Given the description of an element on the screen output the (x, y) to click on. 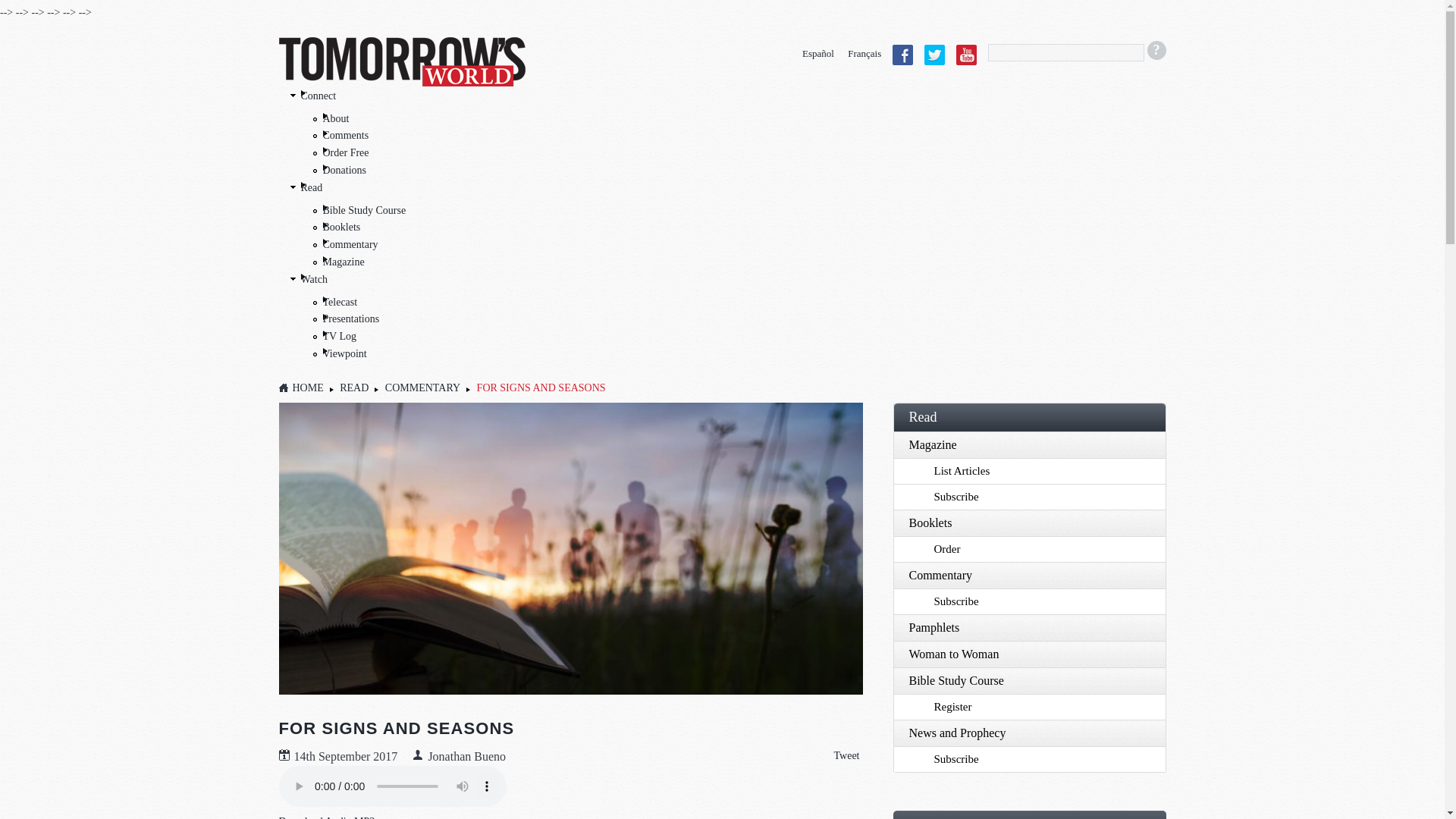
Subscribe (1028, 496)
Tweet (845, 755)
Viewpoint (344, 353)
Read (1028, 416)
Commentary (350, 244)
List Articles (1028, 470)
Connect (317, 95)
Donations (344, 170)
HOME (307, 387)
Bible Study Course (364, 210)
